Given the description of an element on the screen output the (x, y) to click on. 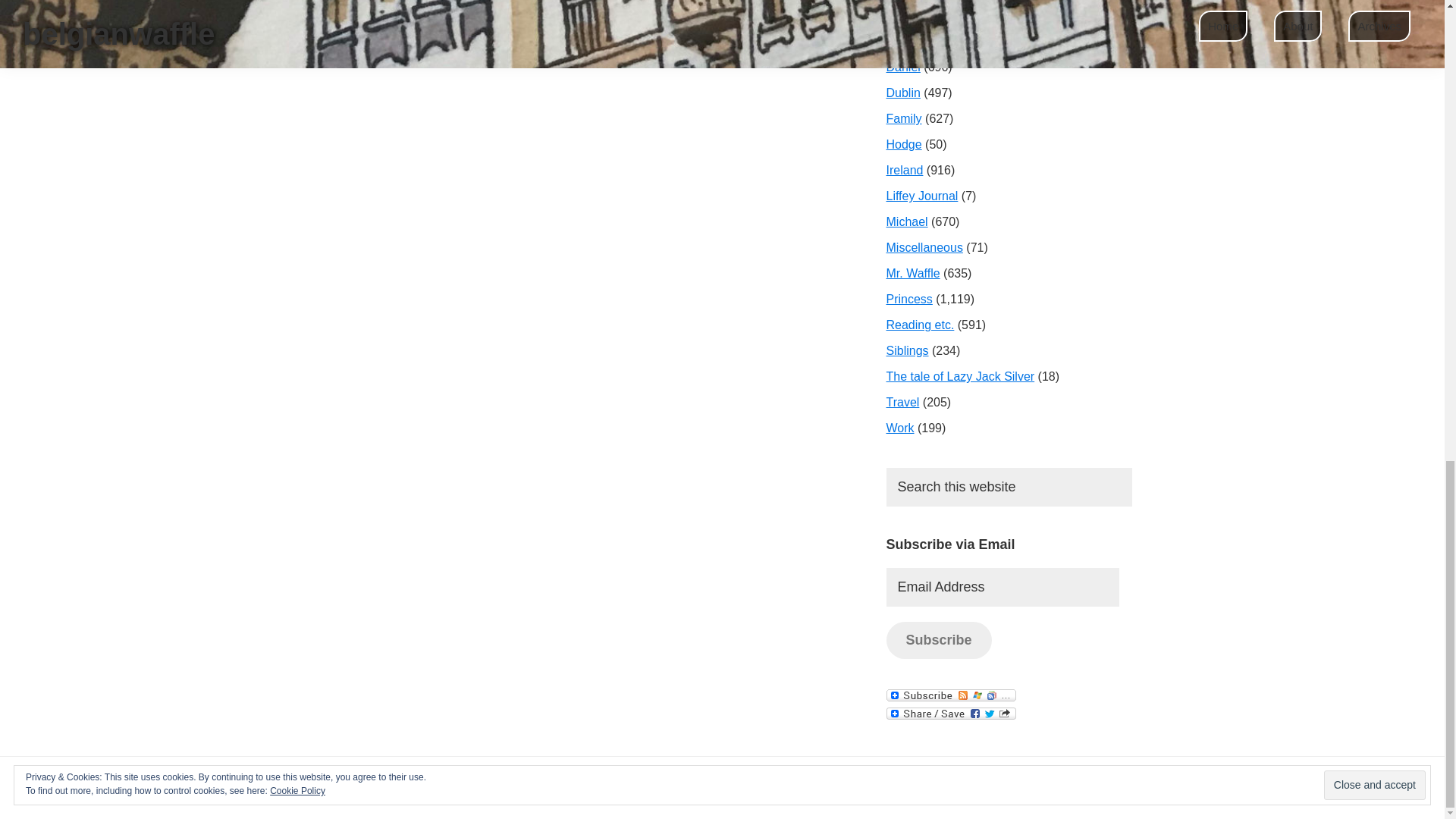
Family (903, 118)
Michael (906, 221)
Mr. Waffle (912, 273)
Siblings (906, 350)
Reading etc. (919, 324)
Dublin (902, 92)
Daniel (902, 66)
Cork (898, 41)
Miscellaneous (923, 246)
Princess (908, 298)
Hodge (903, 144)
Liffey Journal (921, 195)
Boys (898, 15)
